Given the description of an element on the screen output the (x, y) to click on. 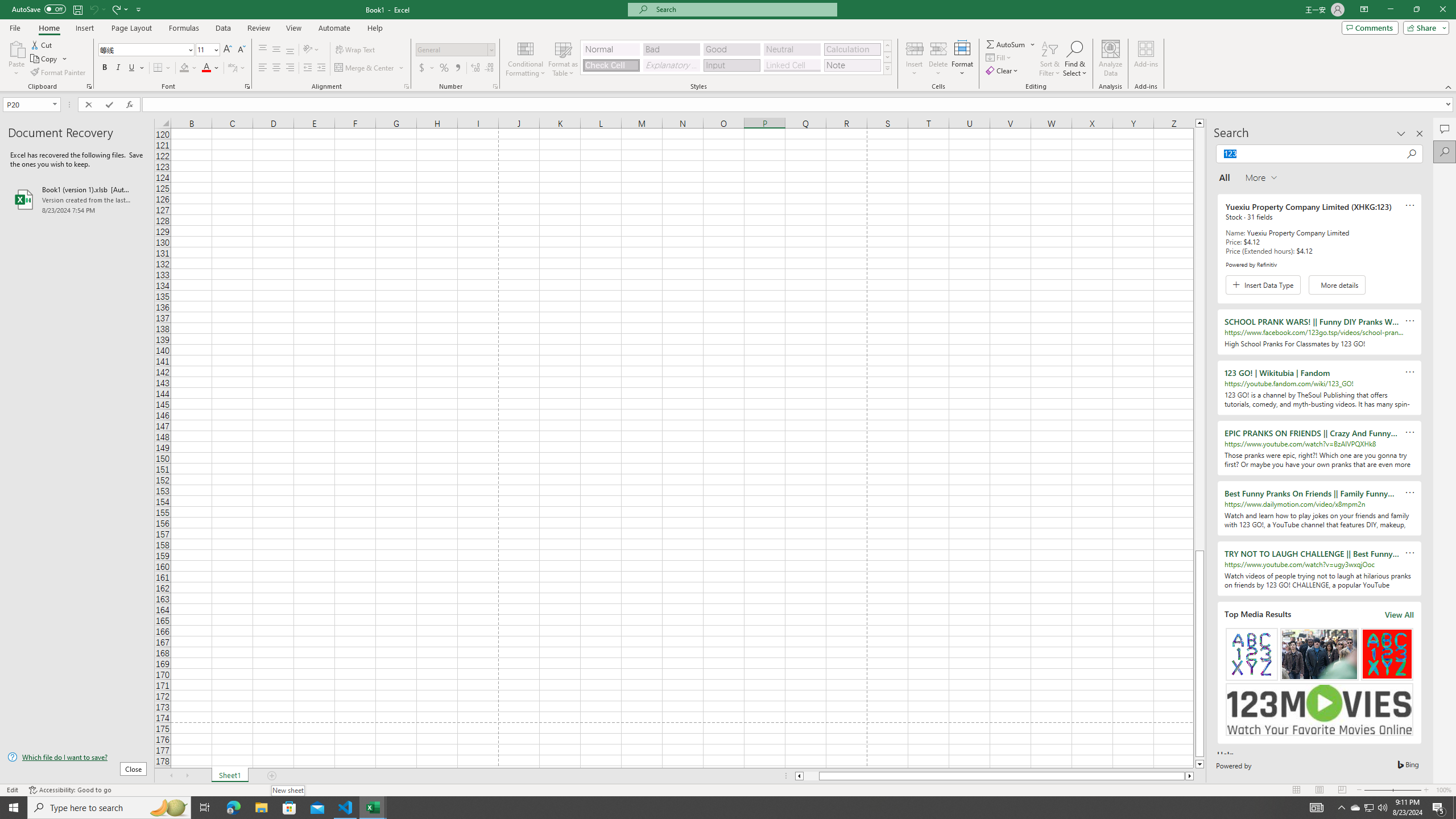
Format (962, 58)
Format Cell Number (494, 85)
Font (147, 49)
Calculation (852, 49)
Underline (136, 67)
Bottom Align (290, 49)
